Given the description of an element on the screen output the (x, y) to click on. 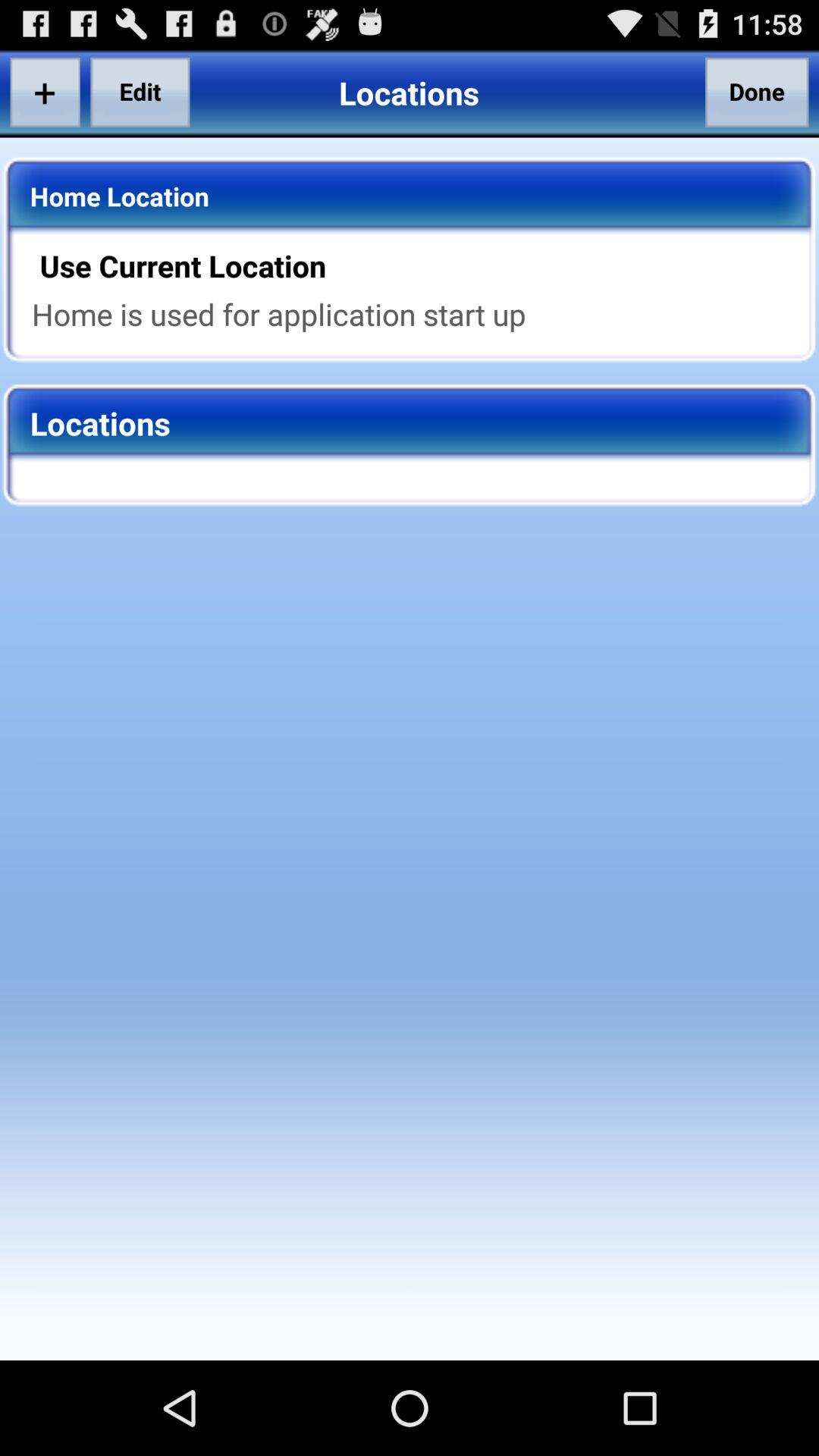
press app above home is used app (419, 265)
